Given the description of an element on the screen output the (x, y) to click on. 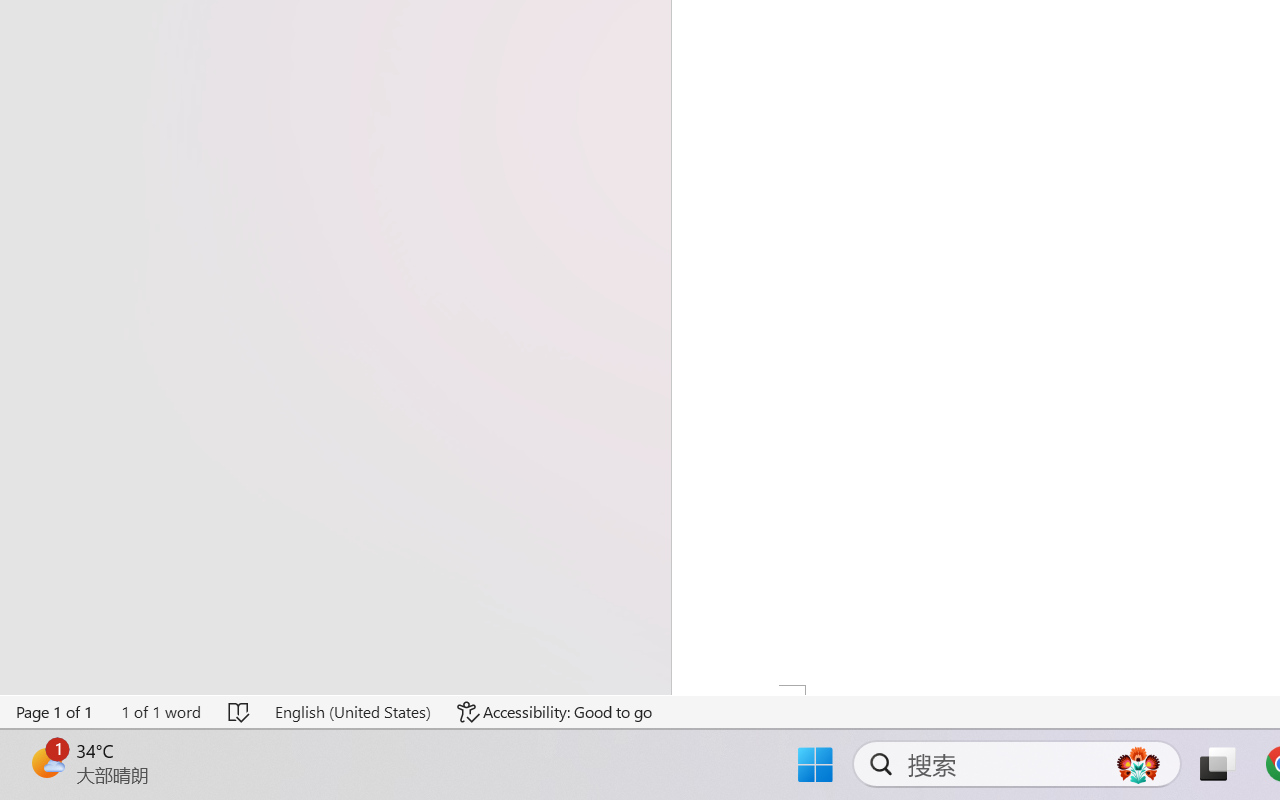
Page Number Page 1 of 1 (55, 712)
